Given the description of an element on the screen output the (x, y) to click on. 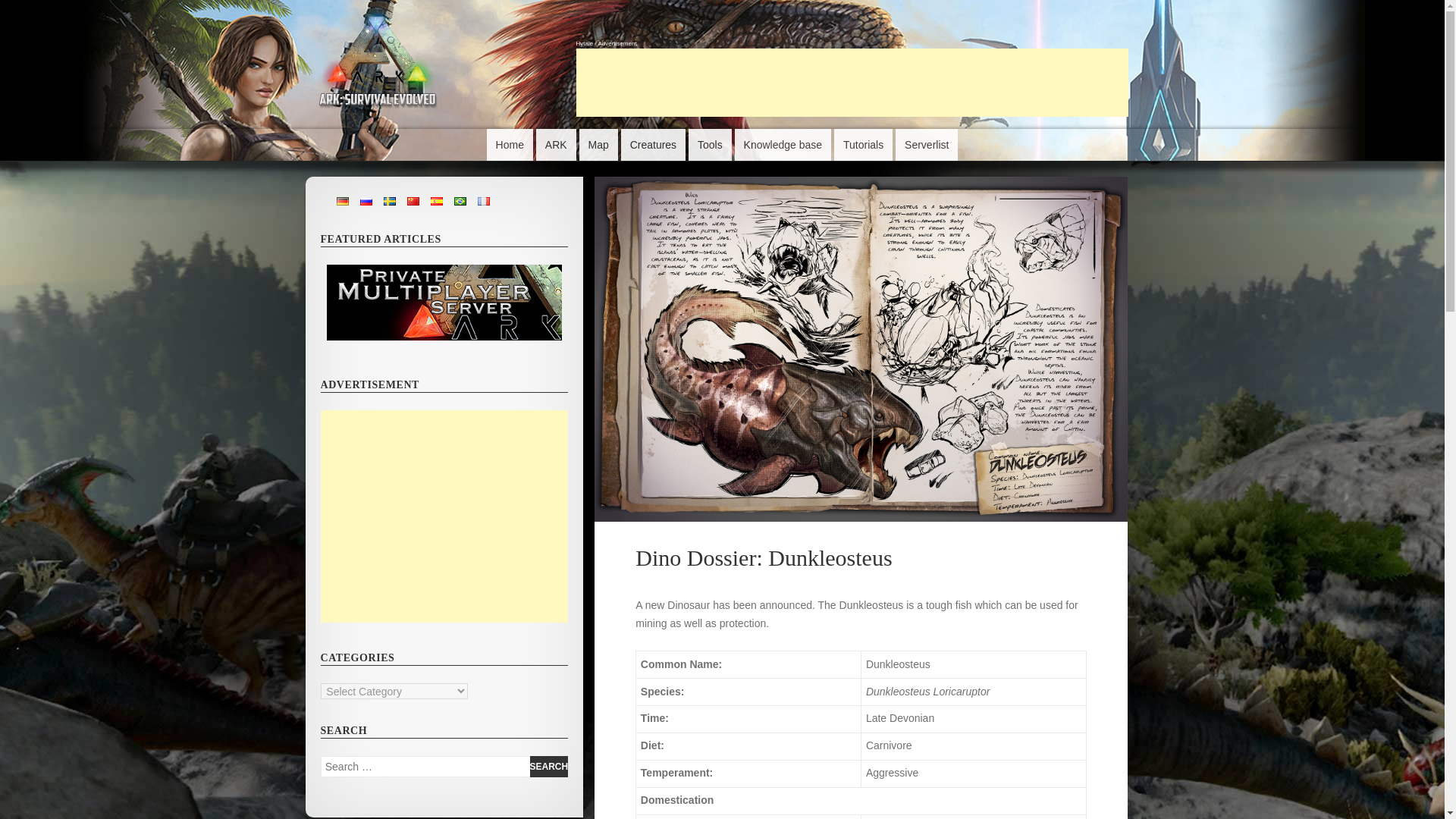
Home (509, 144)
Hytale (585, 43)
Tools (710, 144)
ARK (556, 144)
Search (549, 766)
Knowledge base (782, 144)
Creatures (653, 144)
Search (549, 766)
Map (597, 144)
